Given the description of an element on the screen output the (x, y) to click on. 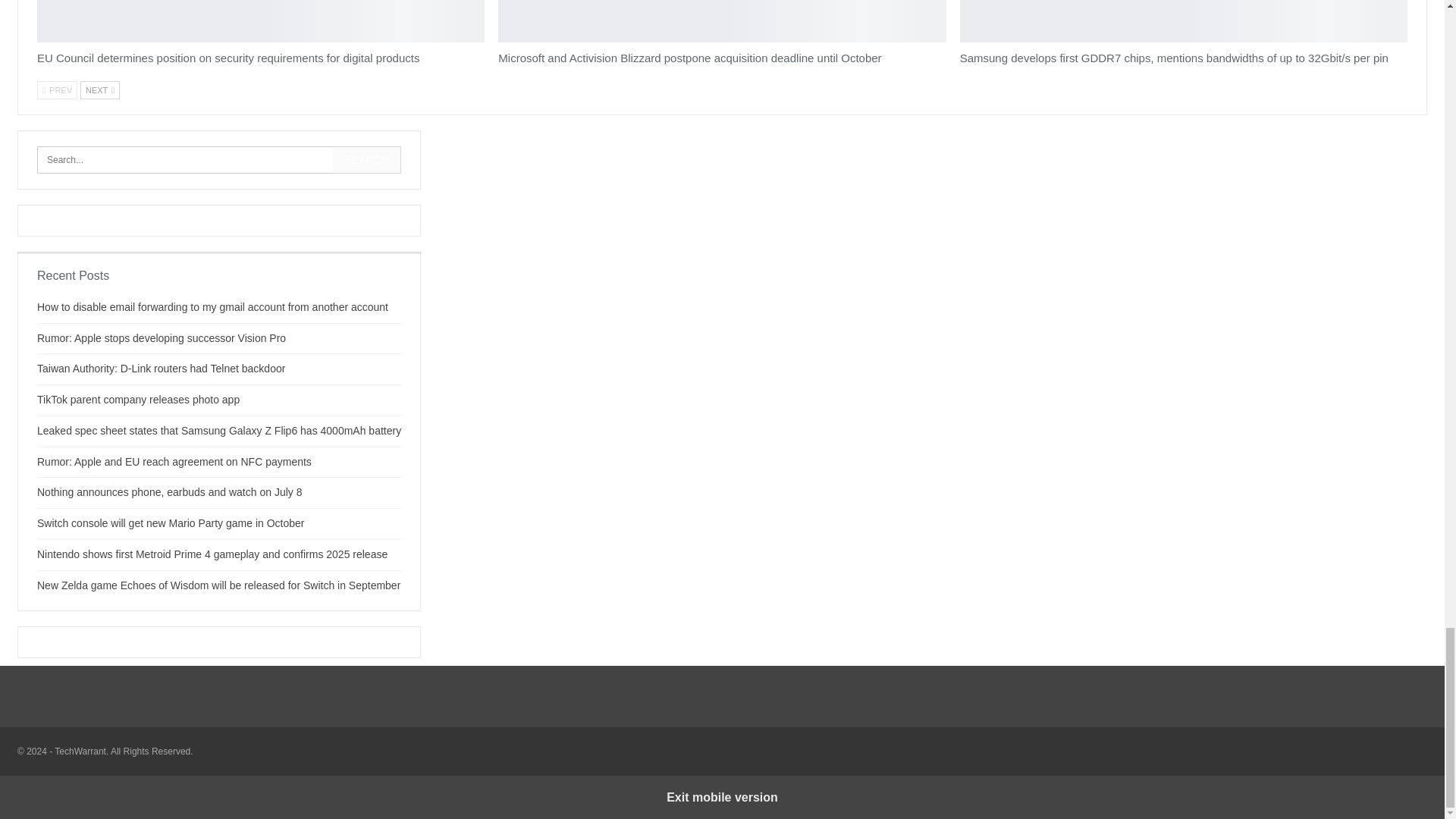
Search (367, 159)
Search (367, 159)
